Given the description of an element on the screen output the (x, y) to click on. 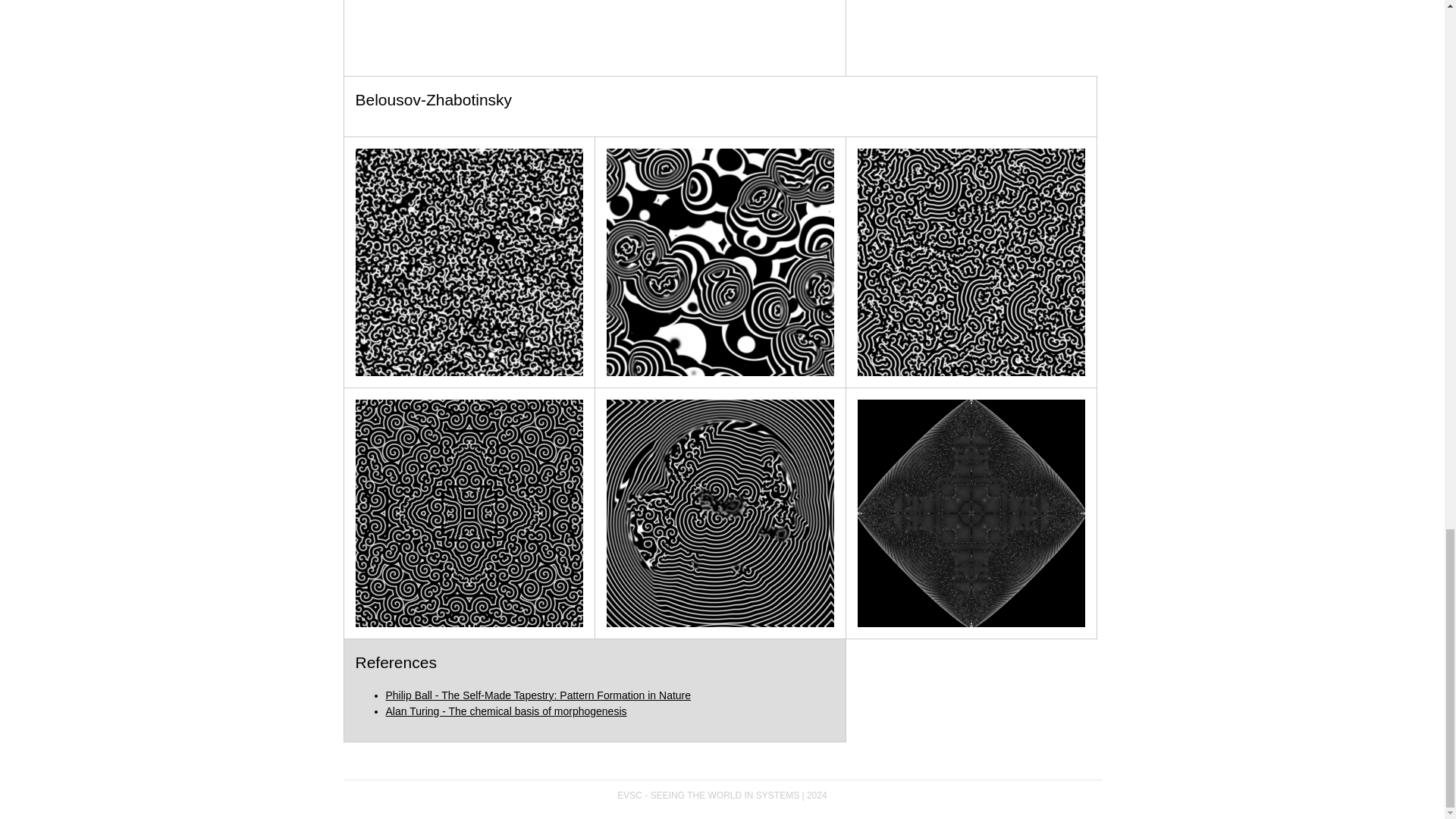
bz2 (720, 261)
bz1 (468, 261)
Alan Turing - The chemical basis of morphogenesis (505, 711)
bz6 (970, 513)
bz3 (970, 261)
bz5 (720, 513)
bz4 (468, 513)
